Given the description of an element on the screen output the (x, y) to click on. 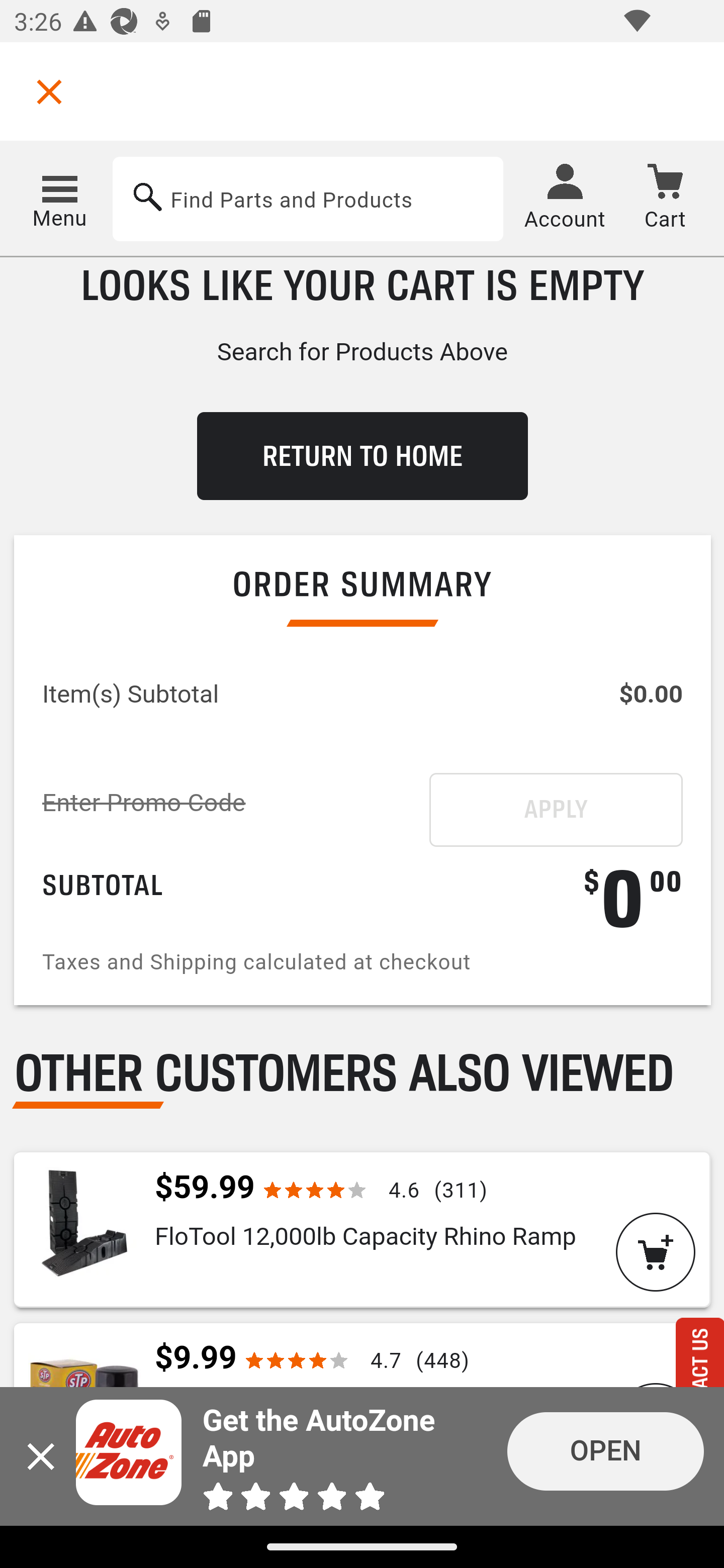
 (49, 91)
RETURN TO HOME (361, 458)
APPLY (556, 811)
Add FloTool 12,000lb Capacity Rhino Ramp TO CART (656, 1254)
Close icon Get the AutoZone App OPEN (362, 1457)
